Given the description of an element on the screen output the (x, y) to click on. 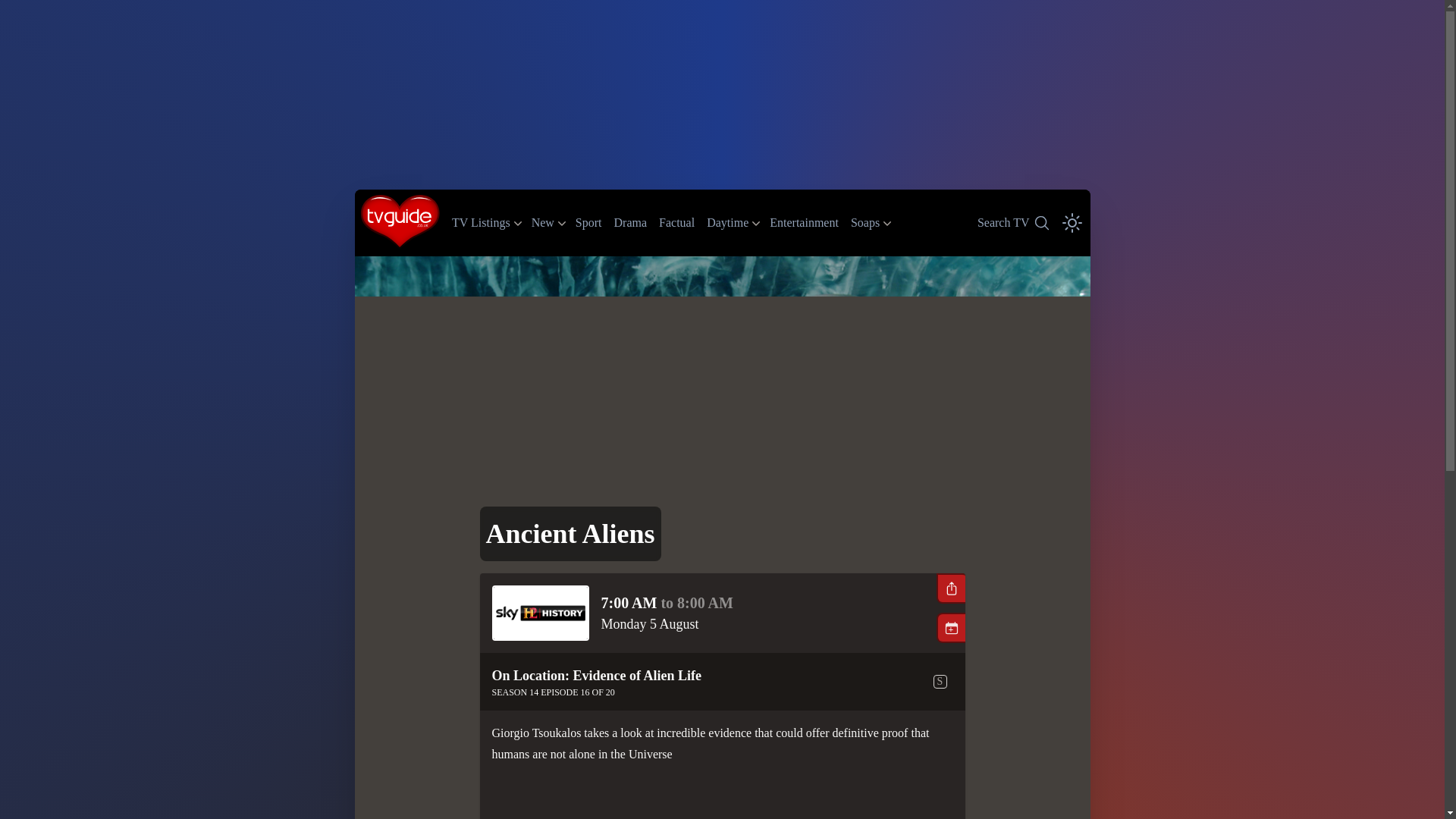
TV Listings (1012, 222)
Factual (480, 223)
Open Theme Dropdown (676, 222)
Drama (1071, 222)
Daytime (630, 222)
New (727, 223)
Soaps (542, 223)
Sport (864, 223)
Entertainment (588, 222)
Search TV Guide (803, 222)
